Given the description of an element on the screen output the (x, y) to click on. 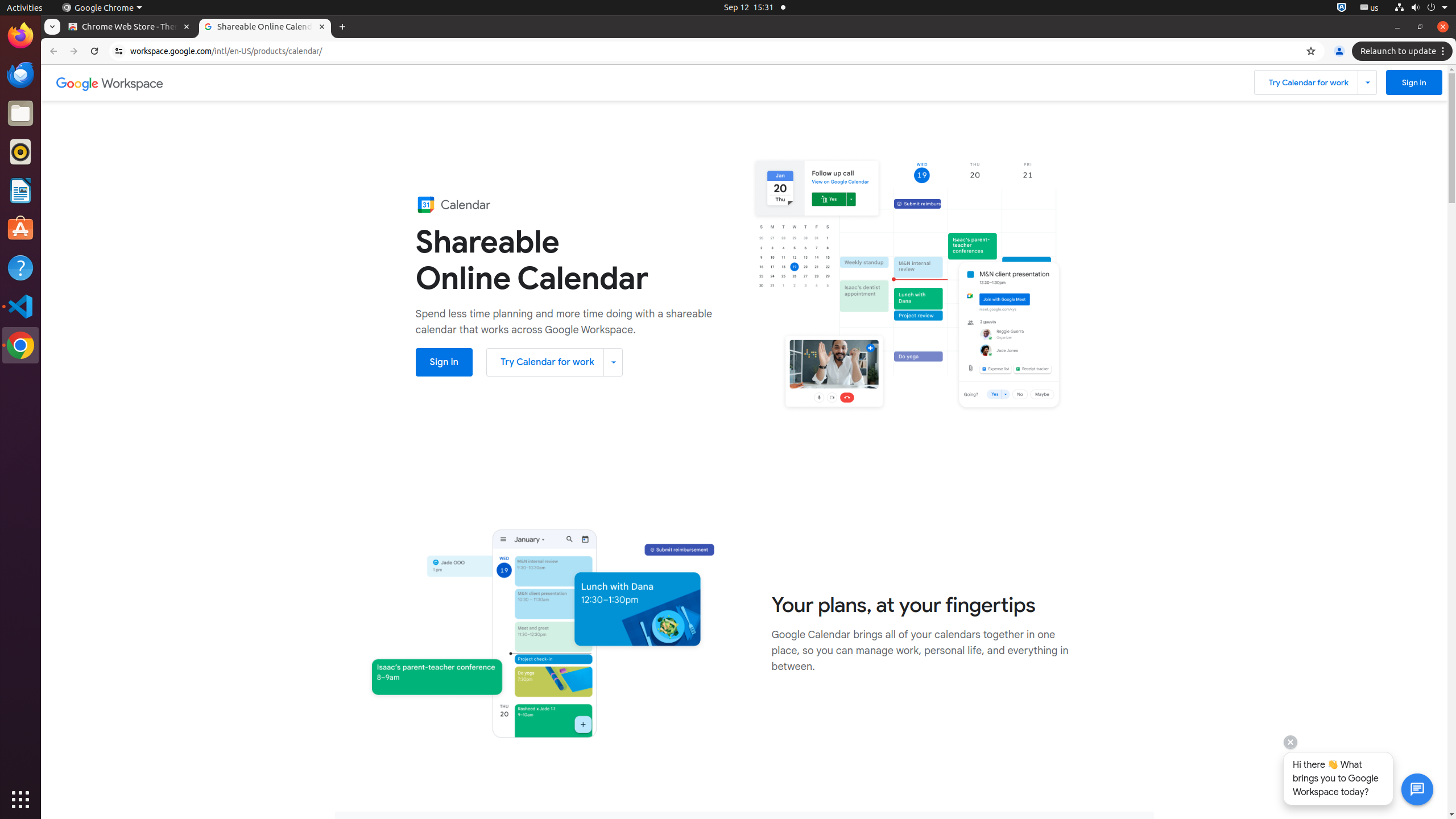
Files Element type: push-button (20, 113)
Try Calendar for work Element type: toggle-button (554, 361)
:1.21/StatusNotifierItem Element type: menu (1369, 7)
View site information Element type: push-button (118, 51)
Visual Studio Code Element type: push-button (20, 306)
